Given the description of an element on the screen output the (x, y) to click on. 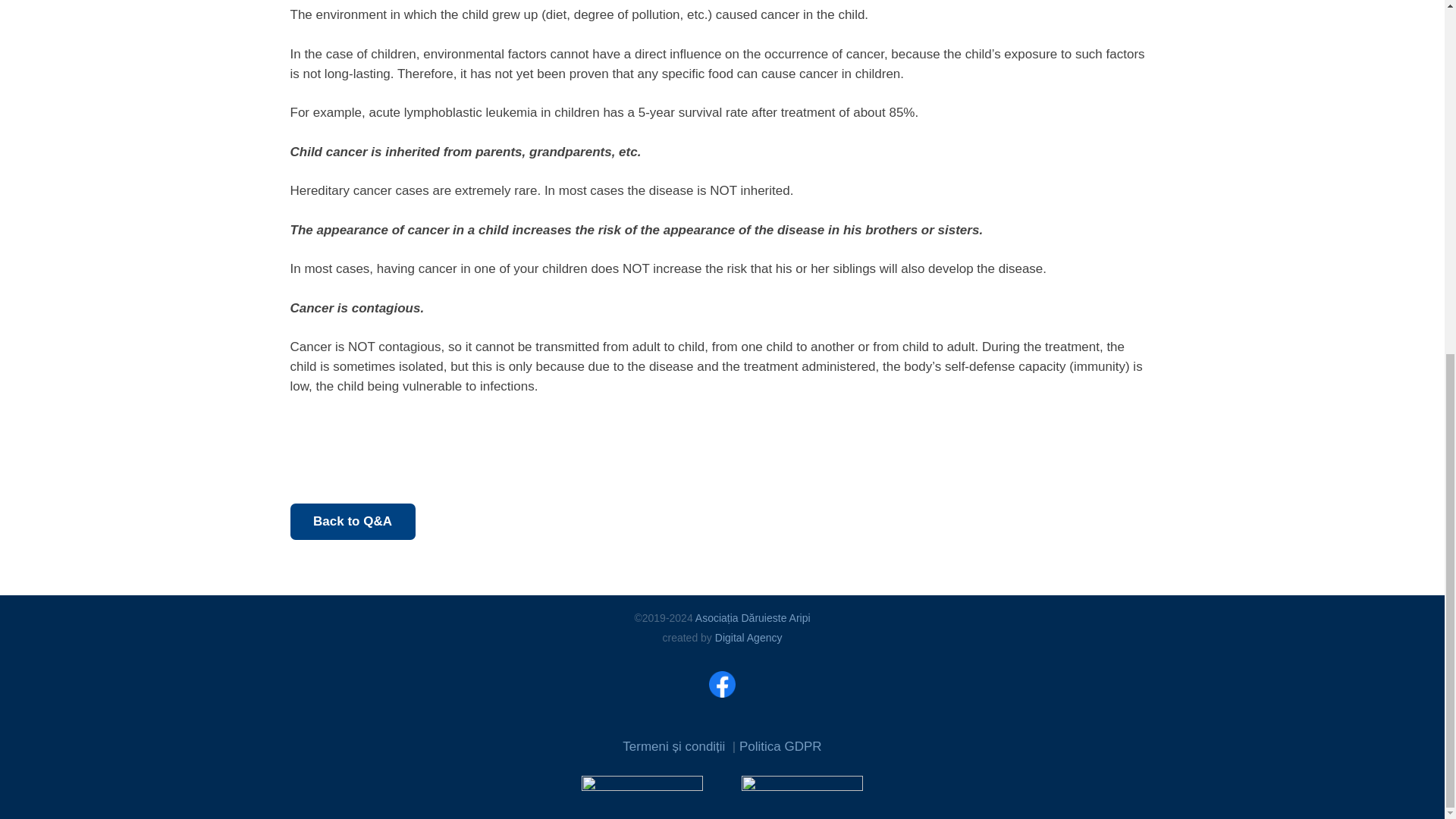
Back to top (1413, 233)
Digital Agency (748, 637)
Politica GDPR (780, 746)
